Given the description of an element on the screen output the (x, y) to click on. 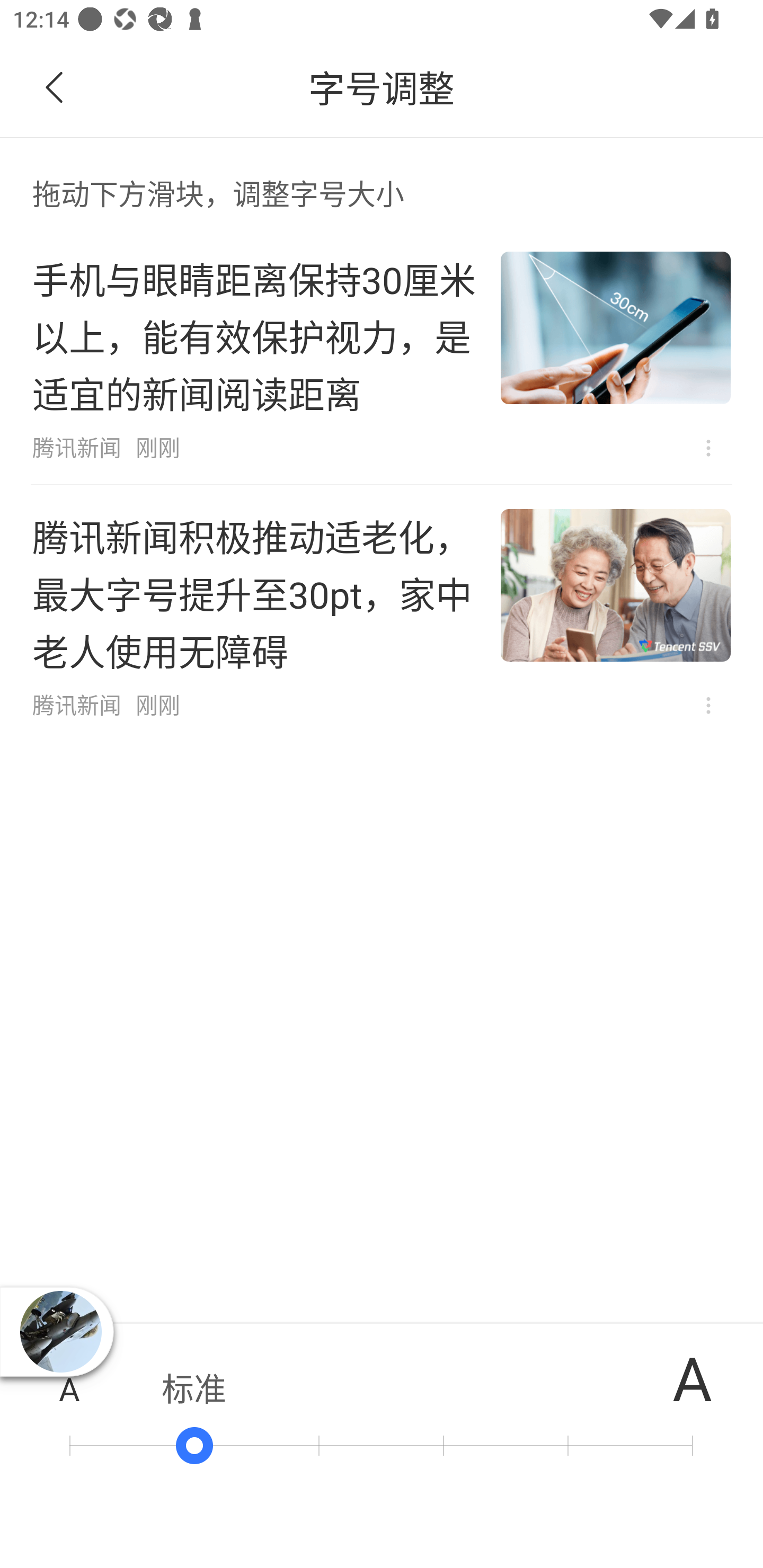
 返回 (54, 87)
手机与眼睛距离保持30厘米以上，能有效保护视力，是适宜的新闻阅读距离 腾讯新闻 刚刚  不感兴趣 (381, 355)
 不感兴趣 (707, 448)
腾讯新闻积极推动适老化，最大字号提升至30pt，家中老人使用无障碍 腾讯新闻 刚刚  不感兴趣 (381, 612)
 不感兴趣 (707, 705)
播放器 (60, 1331)
